Given the description of an element on the screen output the (x, y) to click on. 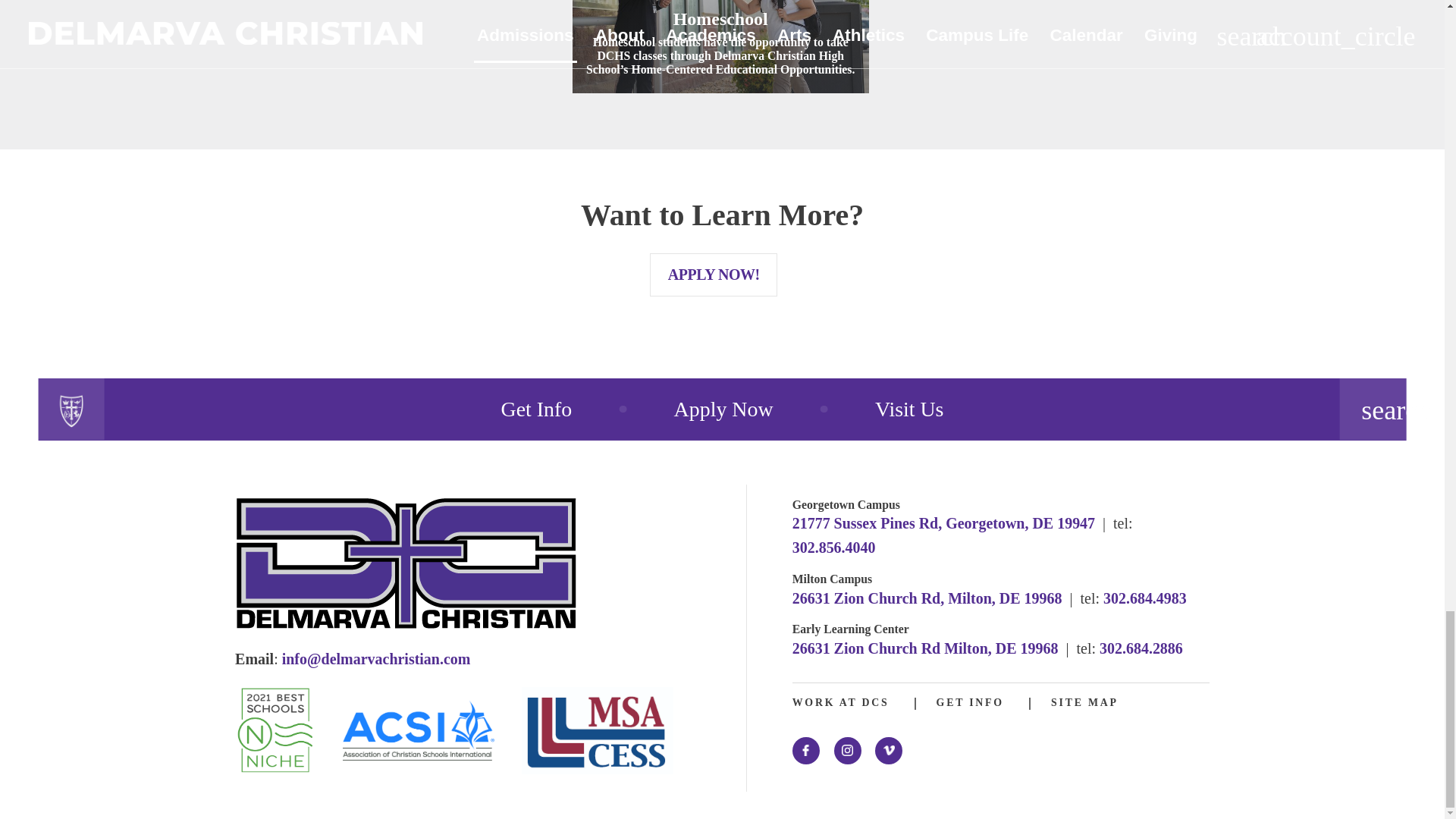
Search (1372, 408)
